Given the description of an element on the screen output the (x, y) to click on. 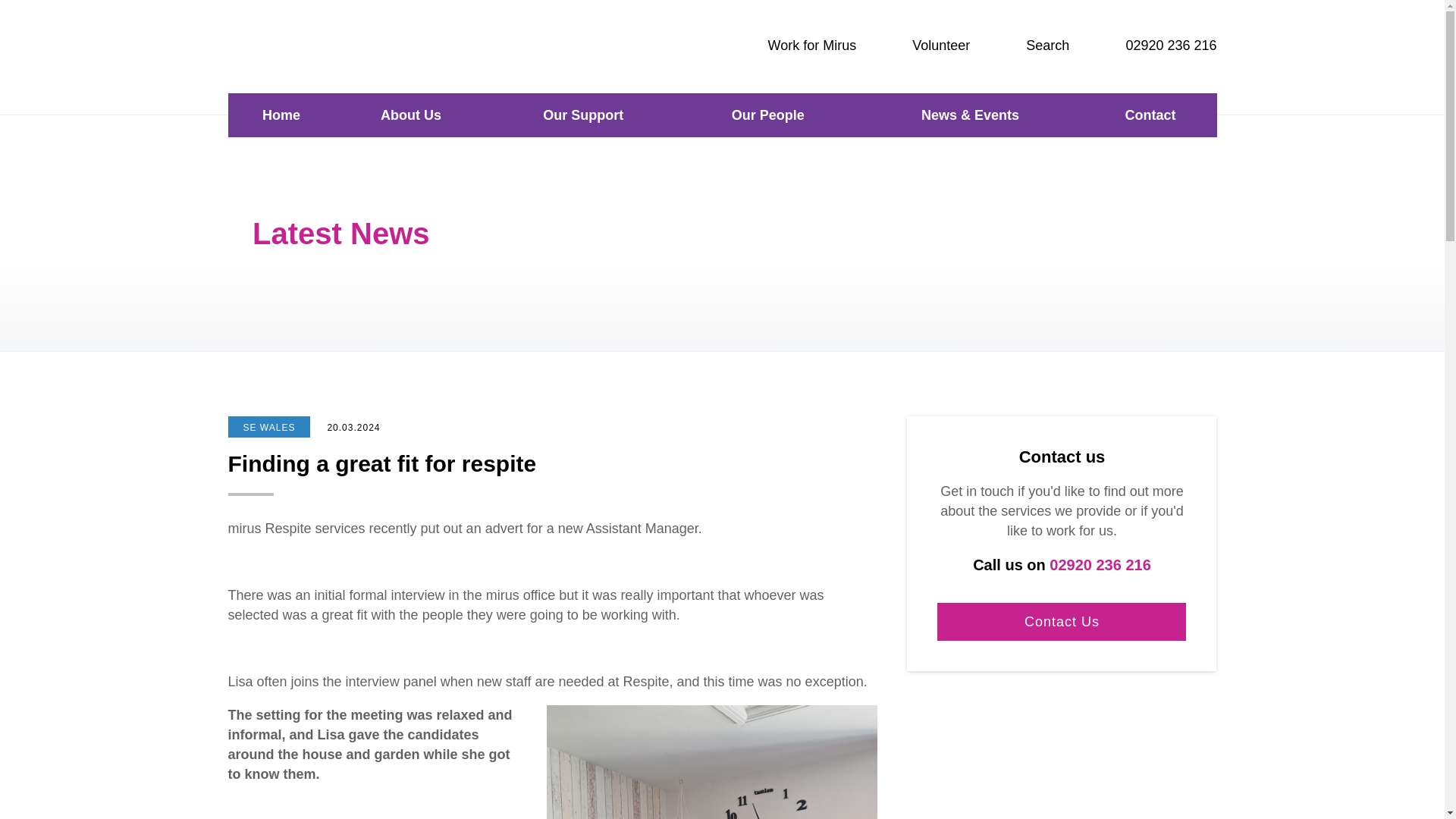
Contact (1149, 115)
02920 236 216 (1153, 45)
About Us (410, 115)
Volunteer (924, 45)
Our People (767, 115)
Home (280, 115)
Our Support (583, 115)
Search (1030, 45)
Mirus (302, 42)
Work for Mirus (796, 45)
